Given the description of an element on the screen output the (x, y) to click on. 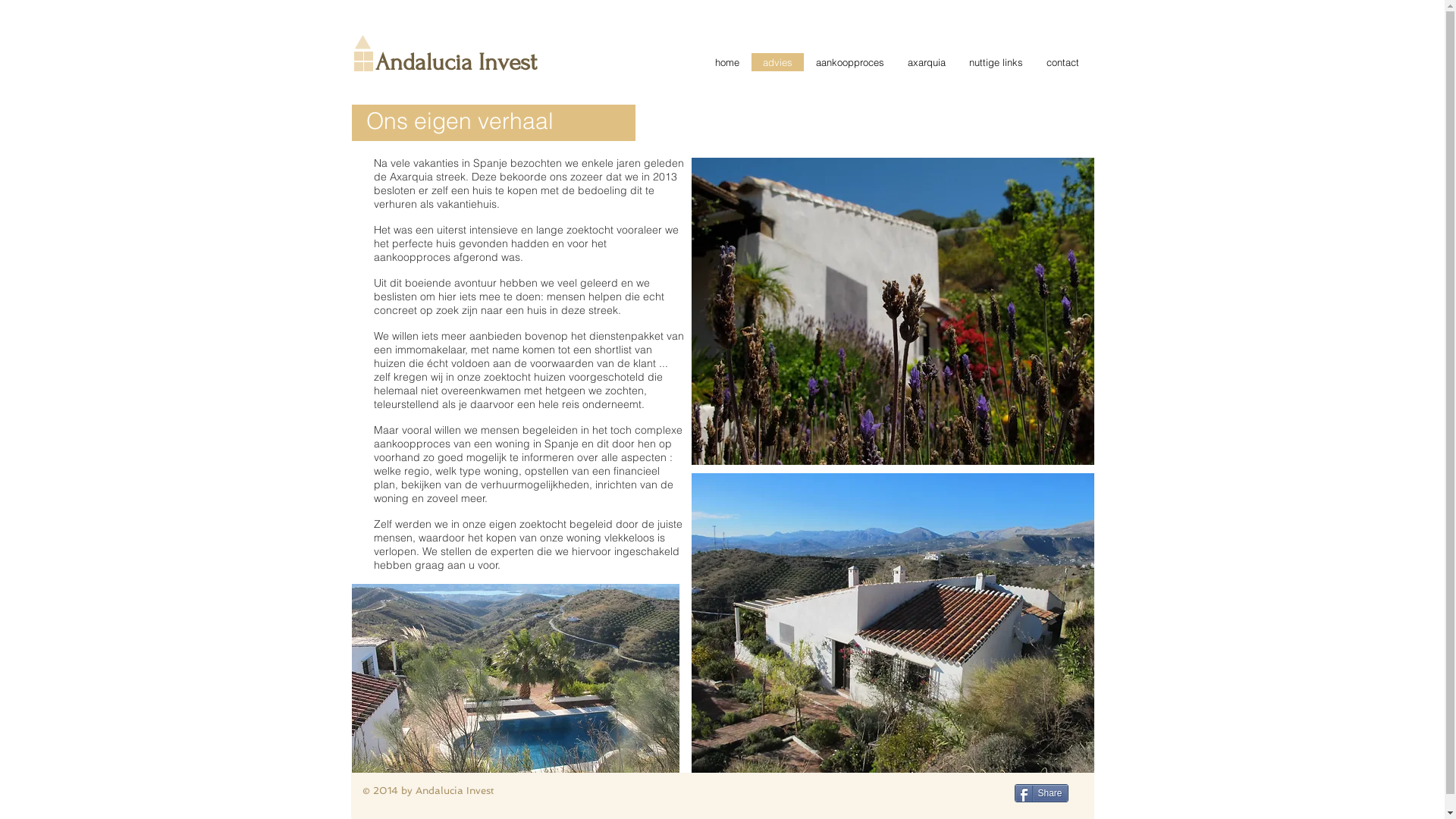
home Element type: text (725, 62)
contact Element type: text (1062, 62)
Share Element type: text (1041, 793)
nuttige links Element type: text (995, 62)
aankoopproces Element type: text (849, 62)
advies Element type: text (776, 62)
axarquia Element type: text (925, 62)
